Given the description of an element on the screen output the (x, y) to click on. 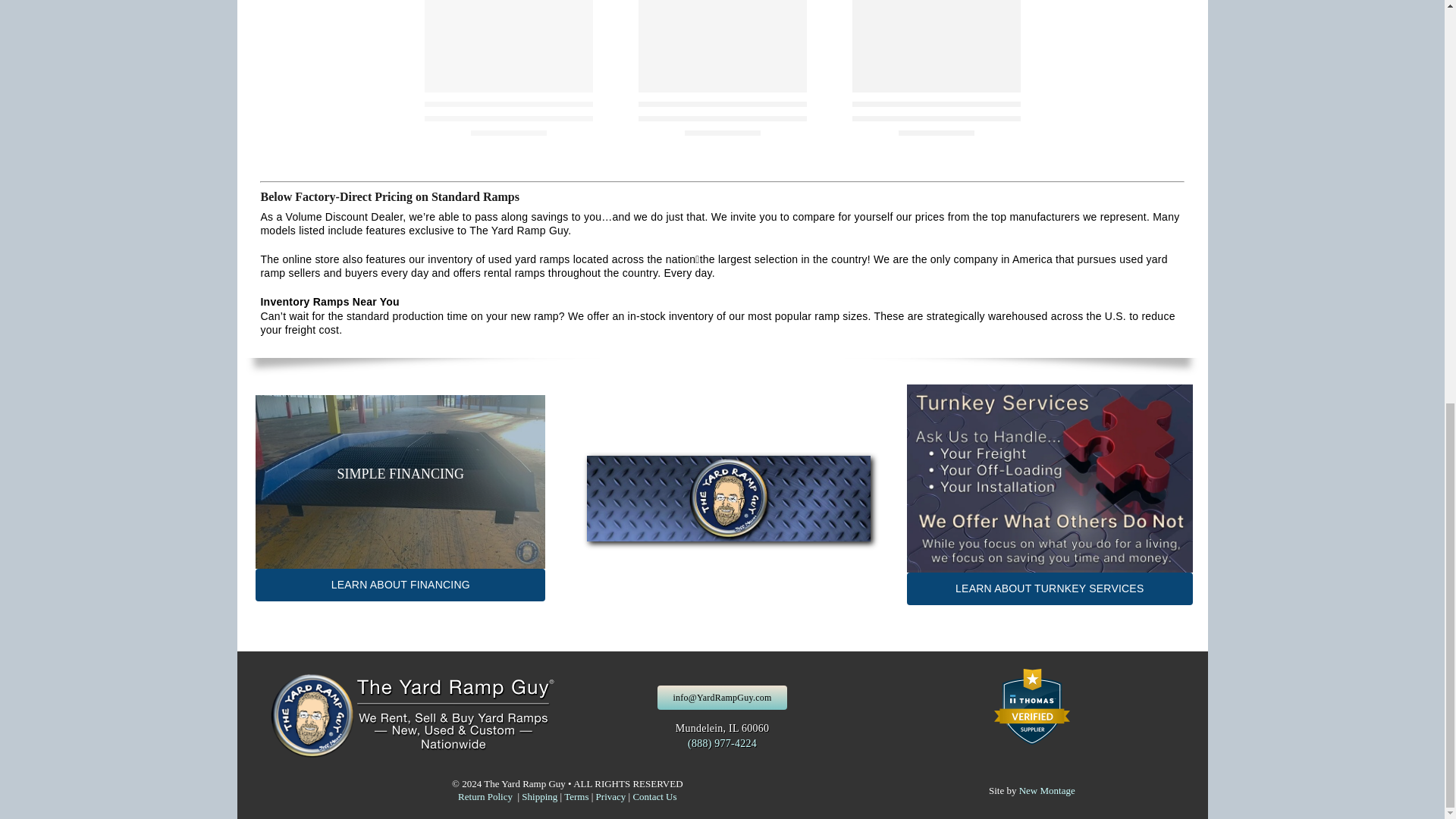
verycool (400, 481)
YaRaGuhz2023 (728, 498)
